Given the description of an element on the screen output the (x, y) to click on. 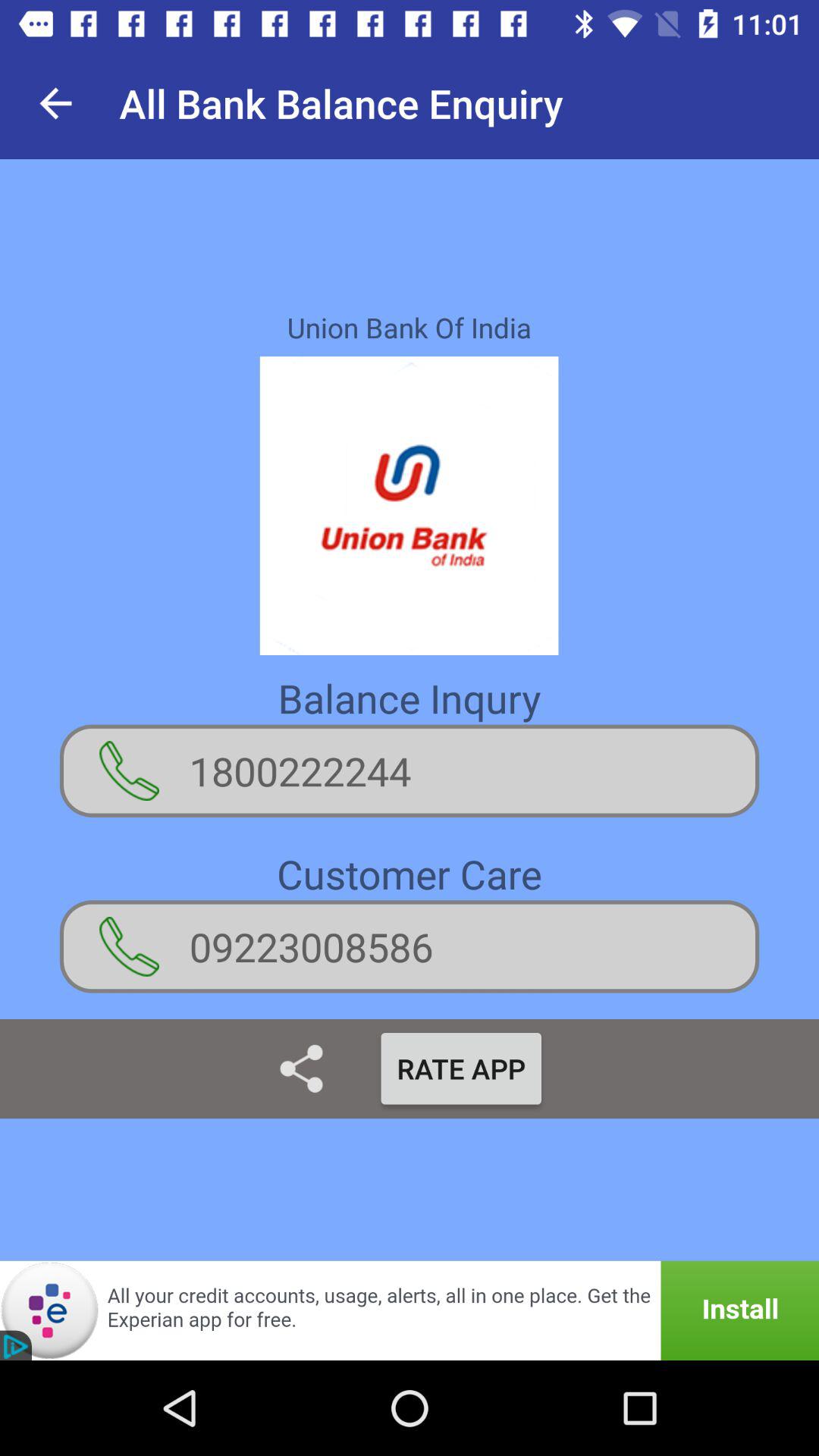
select icon at the top left corner (55, 103)
